Given the description of an element on the screen output the (x, y) to click on. 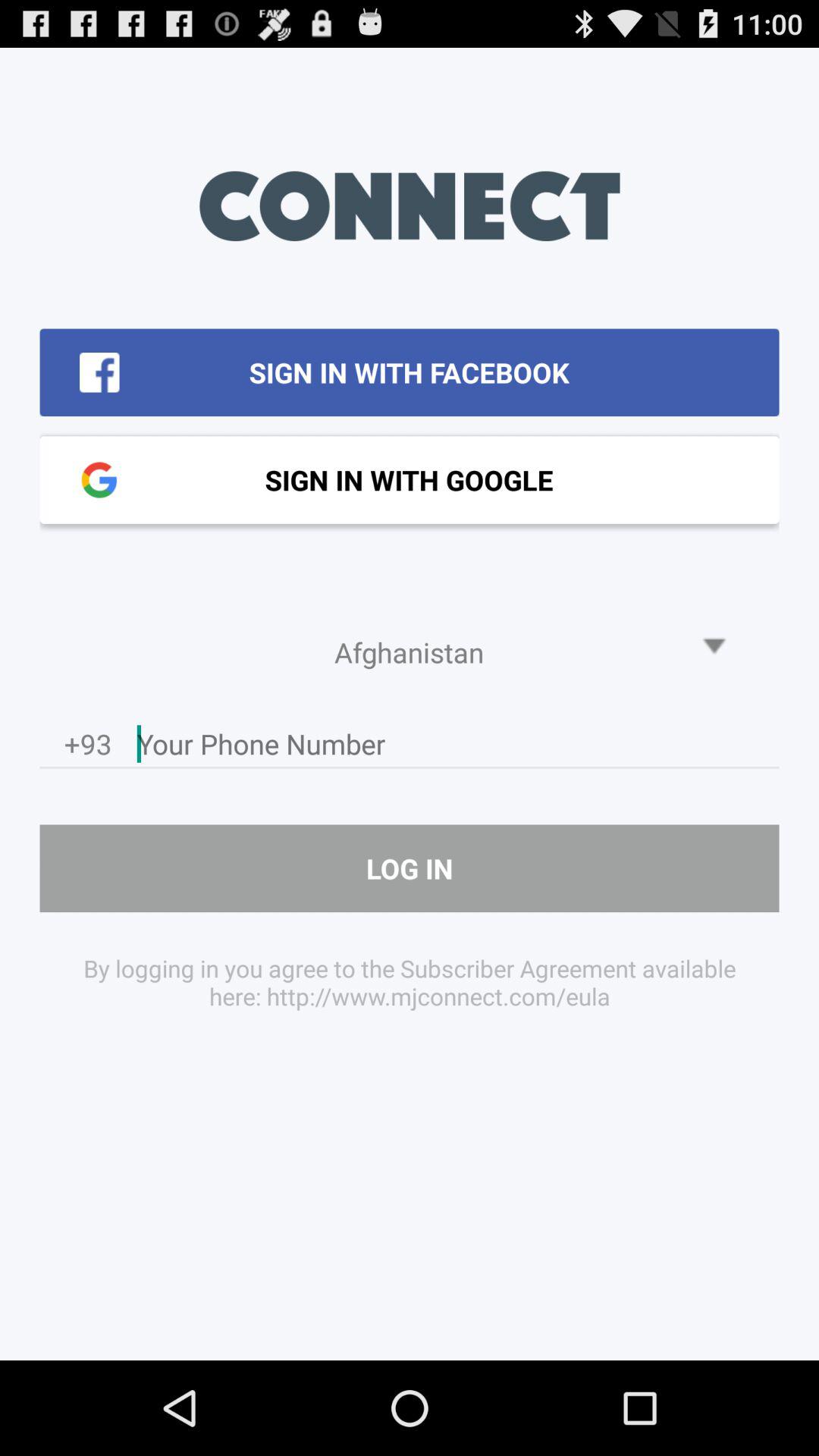
jump to the by logging in item (409, 982)
